Given the description of an element on the screen output the (x, y) to click on. 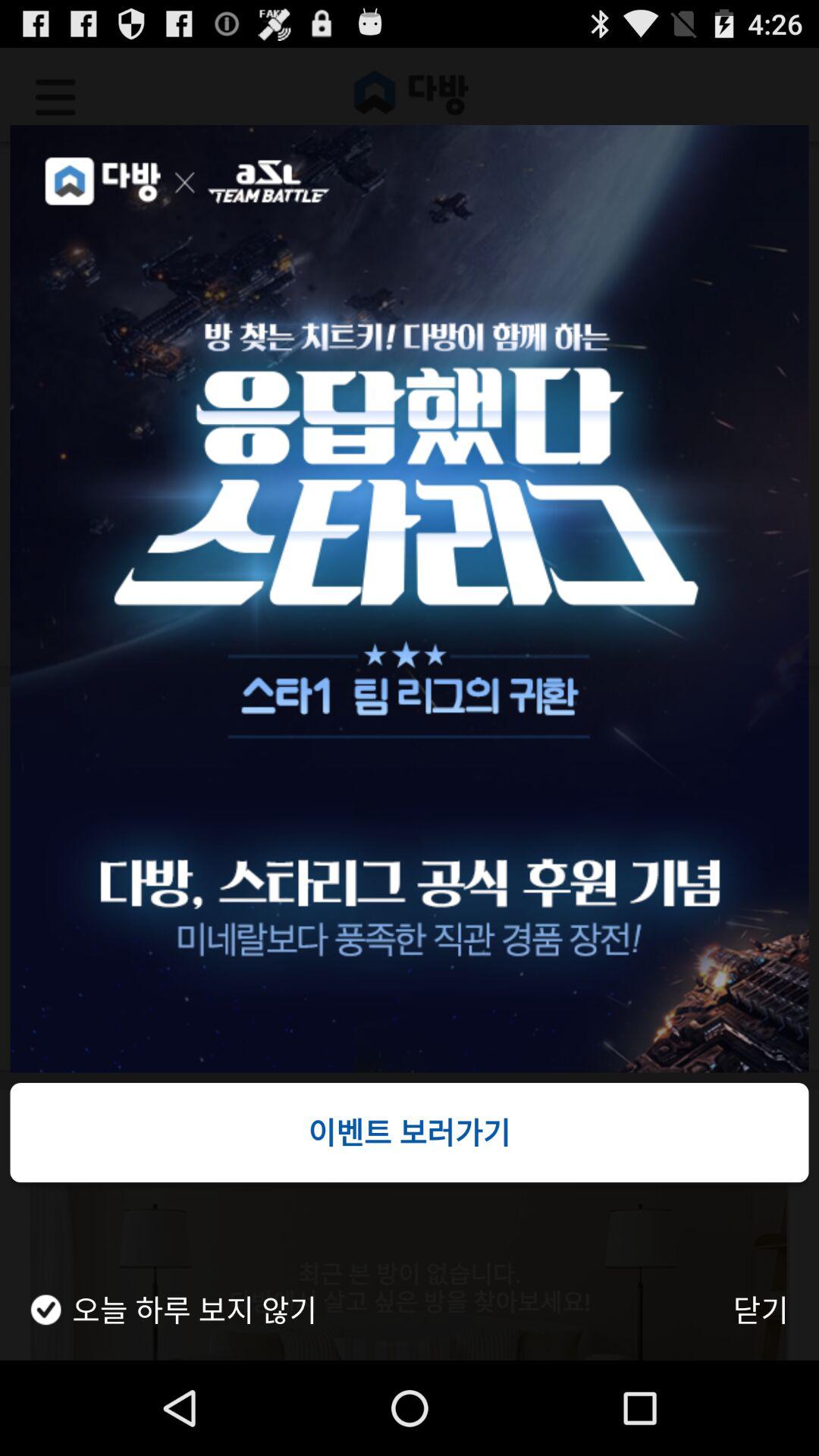
press item at the center (409, 598)
